Given the description of an element on the screen output the (x, y) to click on. 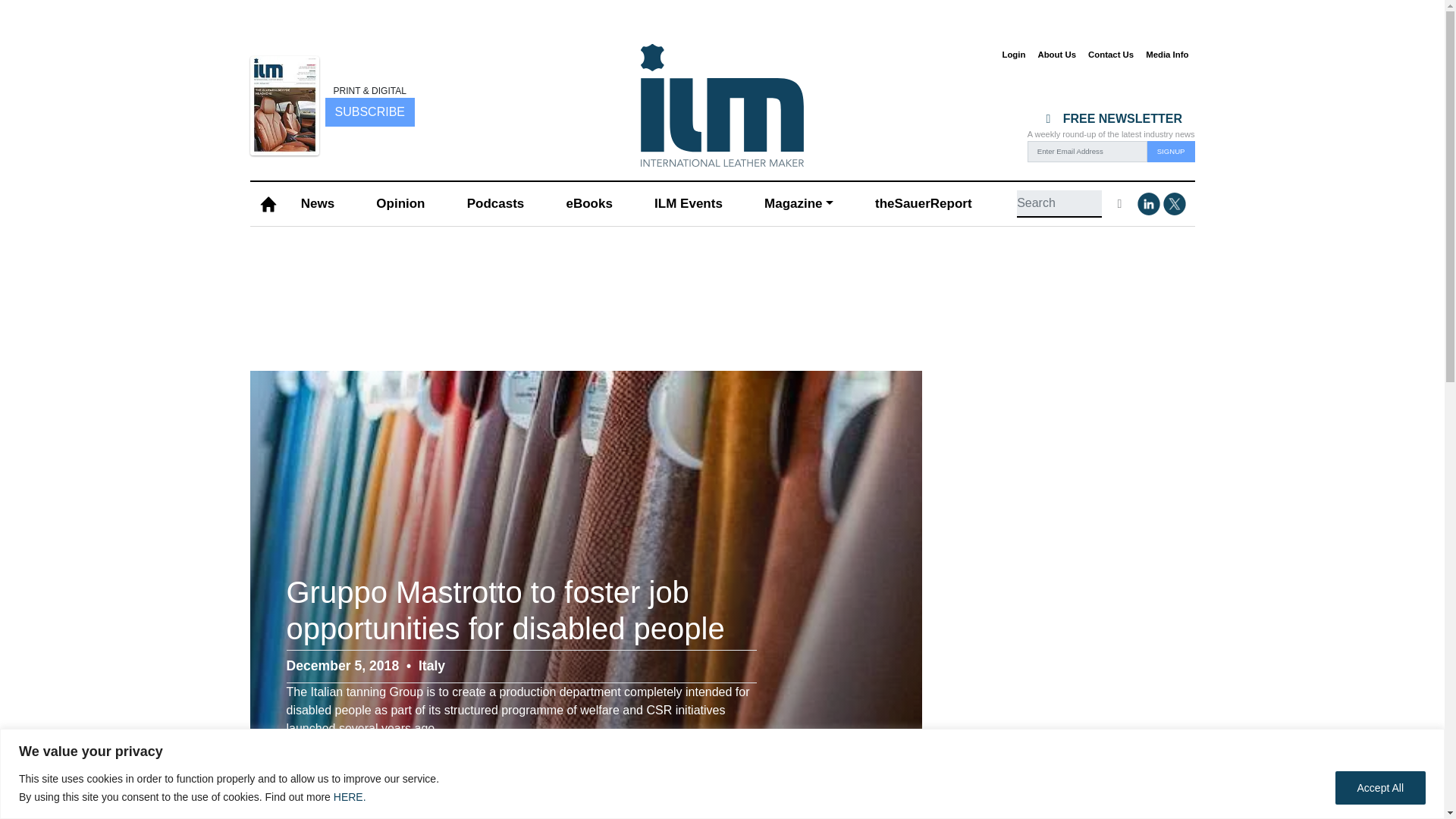
Magazine (797, 204)
SUBSCRIBE (368, 111)
About Us (1055, 54)
SUBSCRIBE (369, 111)
theSauerReport (922, 204)
Login (1012, 54)
eBooks (588, 204)
Opinion (400, 204)
Accept All (1380, 786)
HERE. (349, 796)
